Given the description of an element on the screen output the (x, y) to click on. 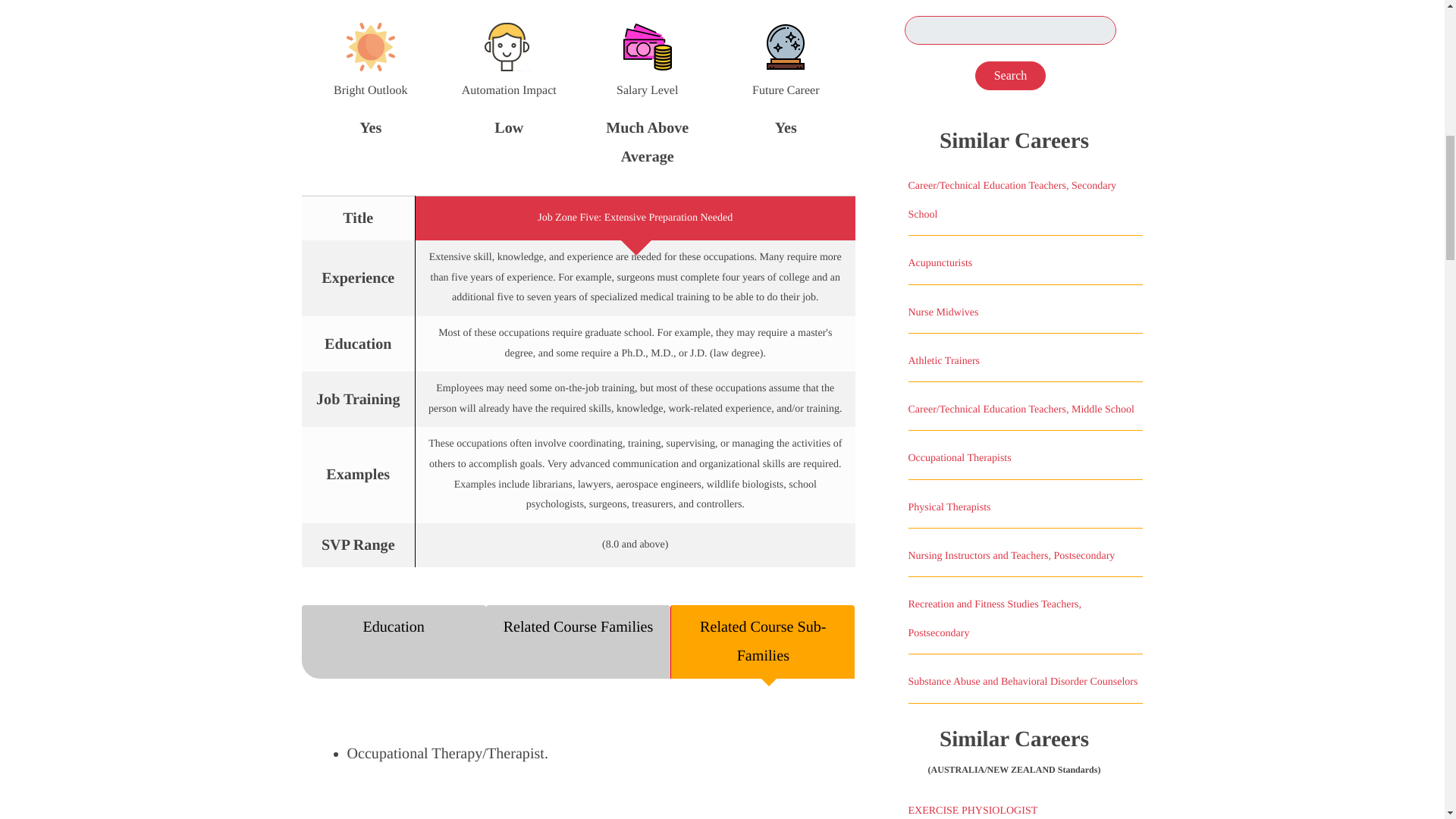
Related Course Sub-Families (761, 641)
Search (1010, 75)
Education (393, 641)
Related Course Families (577, 641)
